Given the description of an element on the screen output the (x, y) to click on. 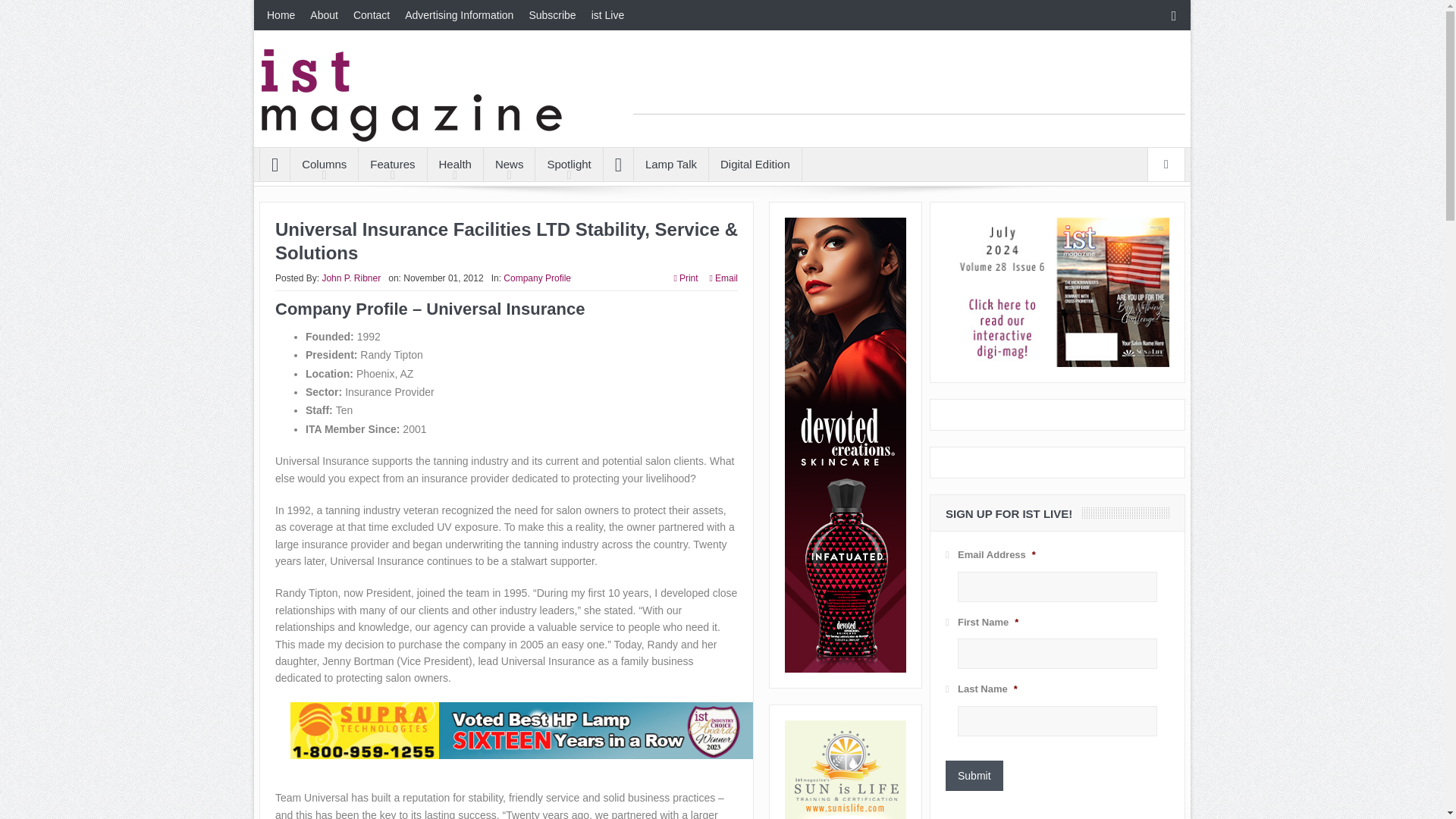
Subscribe (552, 15)
About (324, 15)
Home (280, 15)
ist Live (607, 15)
Features (392, 164)
Advertising Information (459, 15)
Contact (371, 15)
Advertisement (909, 79)
Columns (323, 164)
Submit (973, 775)
Health (455, 164)
